Given the description of an element on the screen output the (x, y) to click on. 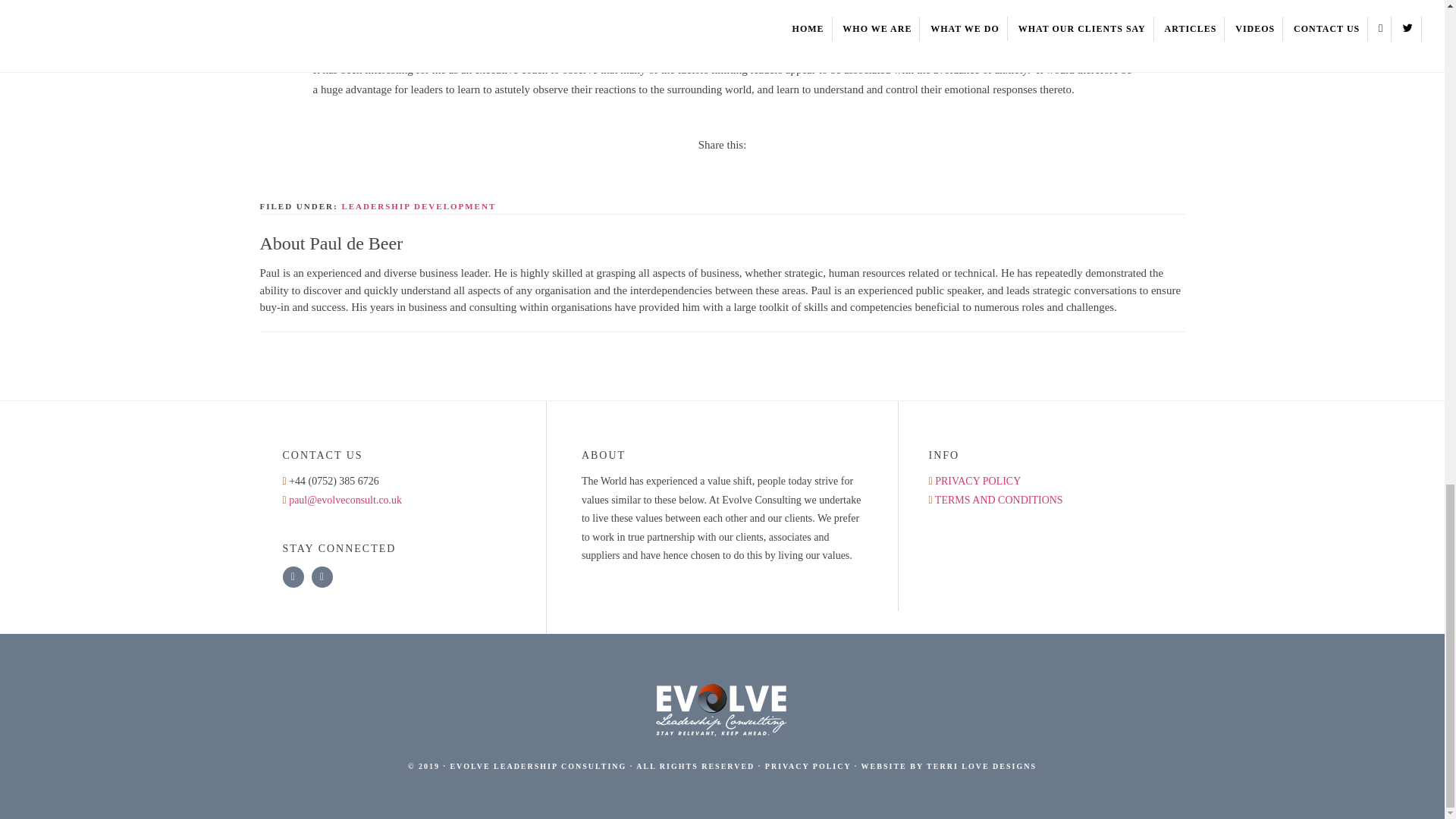
LEADERSHIP DEVELOPMENT (418, 205)
TERRI LOVE DESIGNS (981, 766)
PRIVACY POLICY (977, 480)
PRIVACY POLICY (807, 766)
TERMS AND CONDITIONS (997, 499)
EVOLVE LEADERSHIP CONSULTING (537, 766)
